Given the description of an element on the screen output the (x, y) to click on. 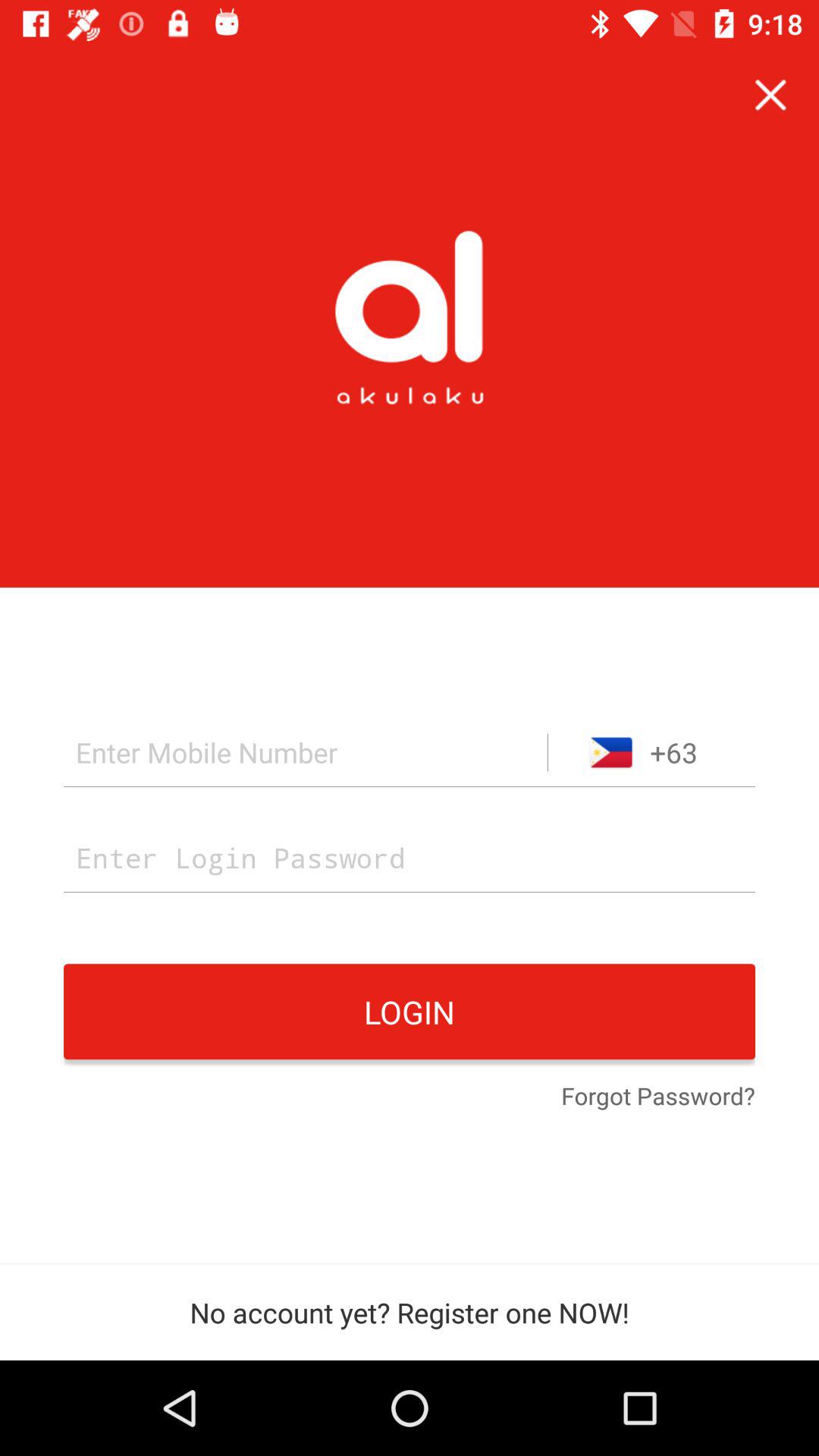
scroll to no account yet item (409, 1312)
